Given the description of an element on the screen output the (x, y) to click on. 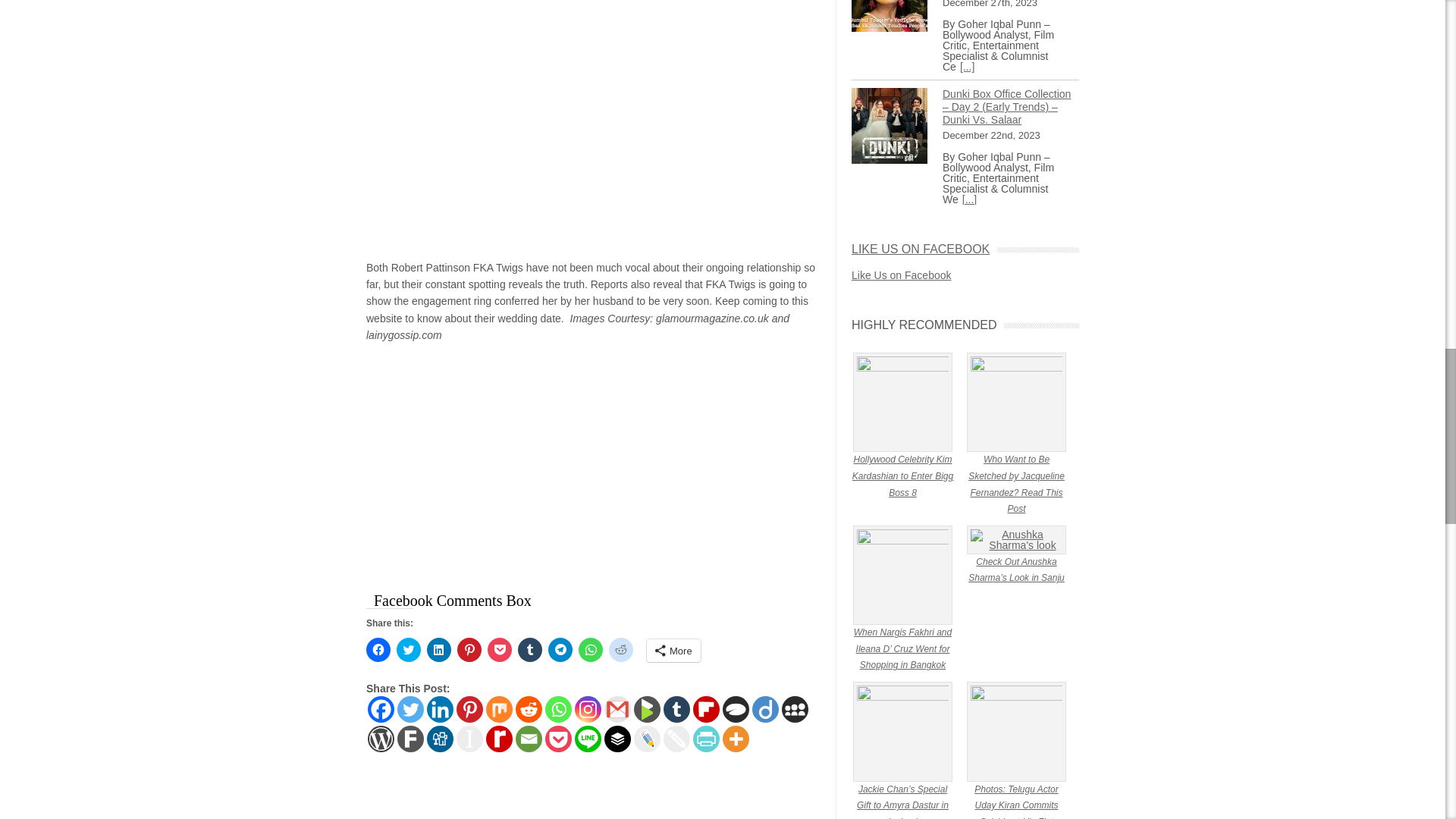
Click to share on WhatsApp (590, 649)
Click to share on Pinterest (469, 649)
Click to share on Tumblr (529, 649)
Click to share on LinkedIn (438, 649)
Click to share on Reddit (620, 649)
Click to share on Twitter (408, 649)
Click to share on Pocket (499, 649)
Facebook (381, 709)
More (673, 650)
Click to share on Facebook (378, 649)
